Given the description of an element on the screen output the (x, y) to click on. 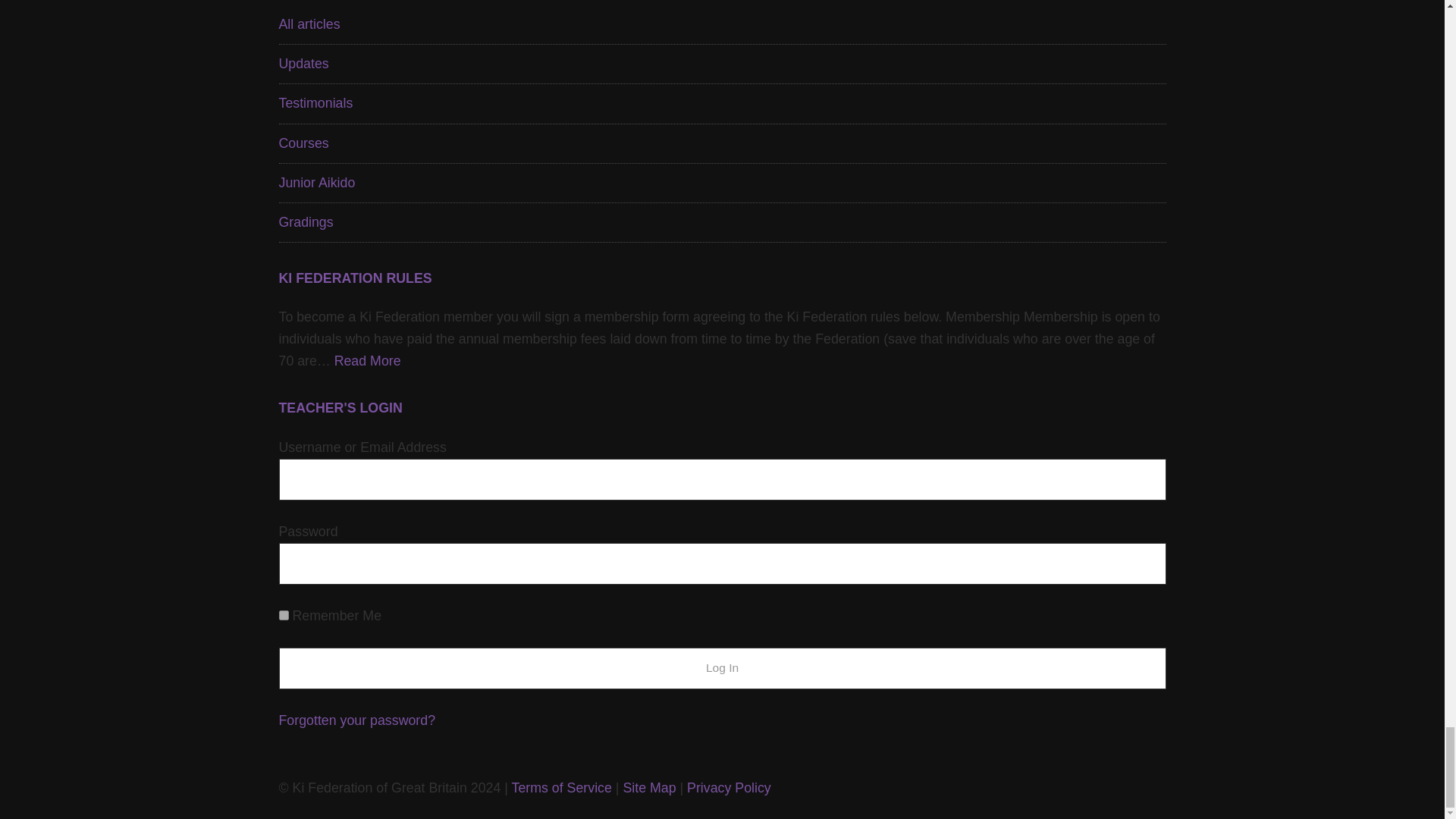
Log In (722, 668)
forever (283, 614)
